Given the description of an element on the screen output the (x, y) to click on. 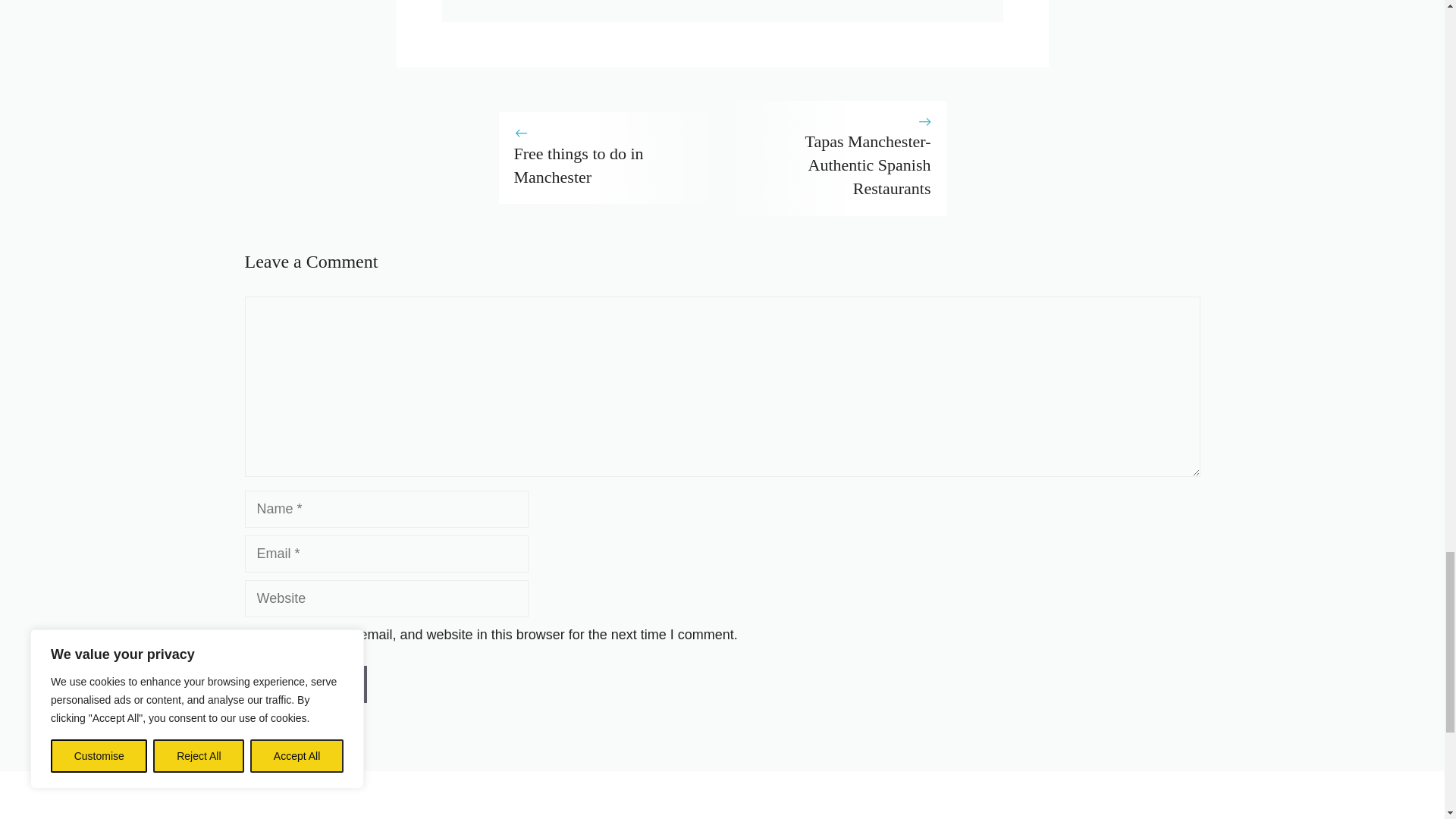
Free things to do in Manchester (578, 165)
Post Comment (305, 683)
yes (248, 634)
